Given the description of an element on the screen output the (x, y) to click on. 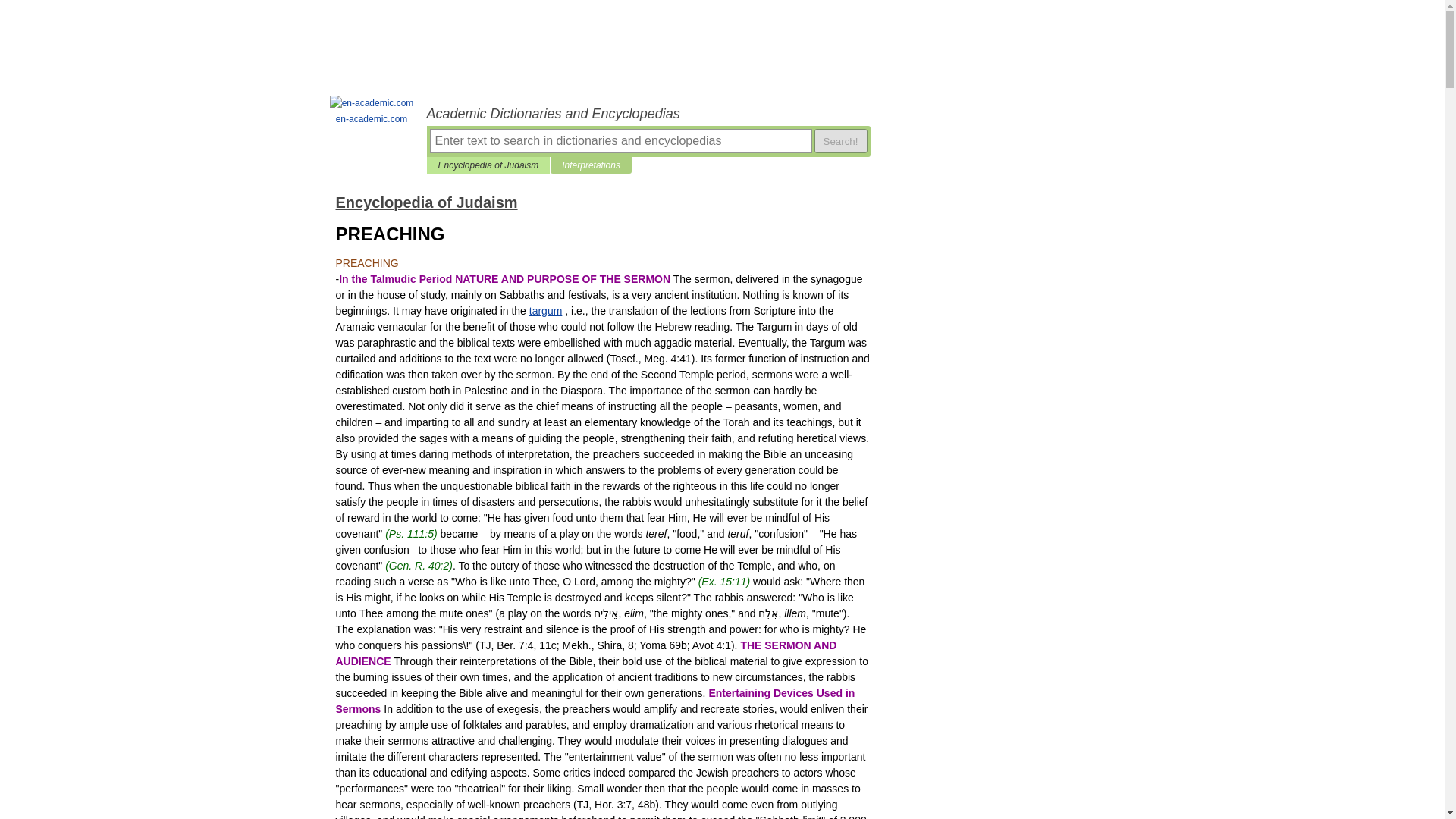
targum (545, 310)
Academic Dictionaries and Encyclopedias (647, 114)
Encyclopedia of Judaism (488, 165)
Interpretations (591, 165)
Search! (840, 140)
Enter text to search in dictionaries and encyclopedias (619, 140)
Encyclopedia of Judaism (425, 202)
en-academic.com (371, 111)
